Given the description of an element on the screen output the (x, y) to click on. 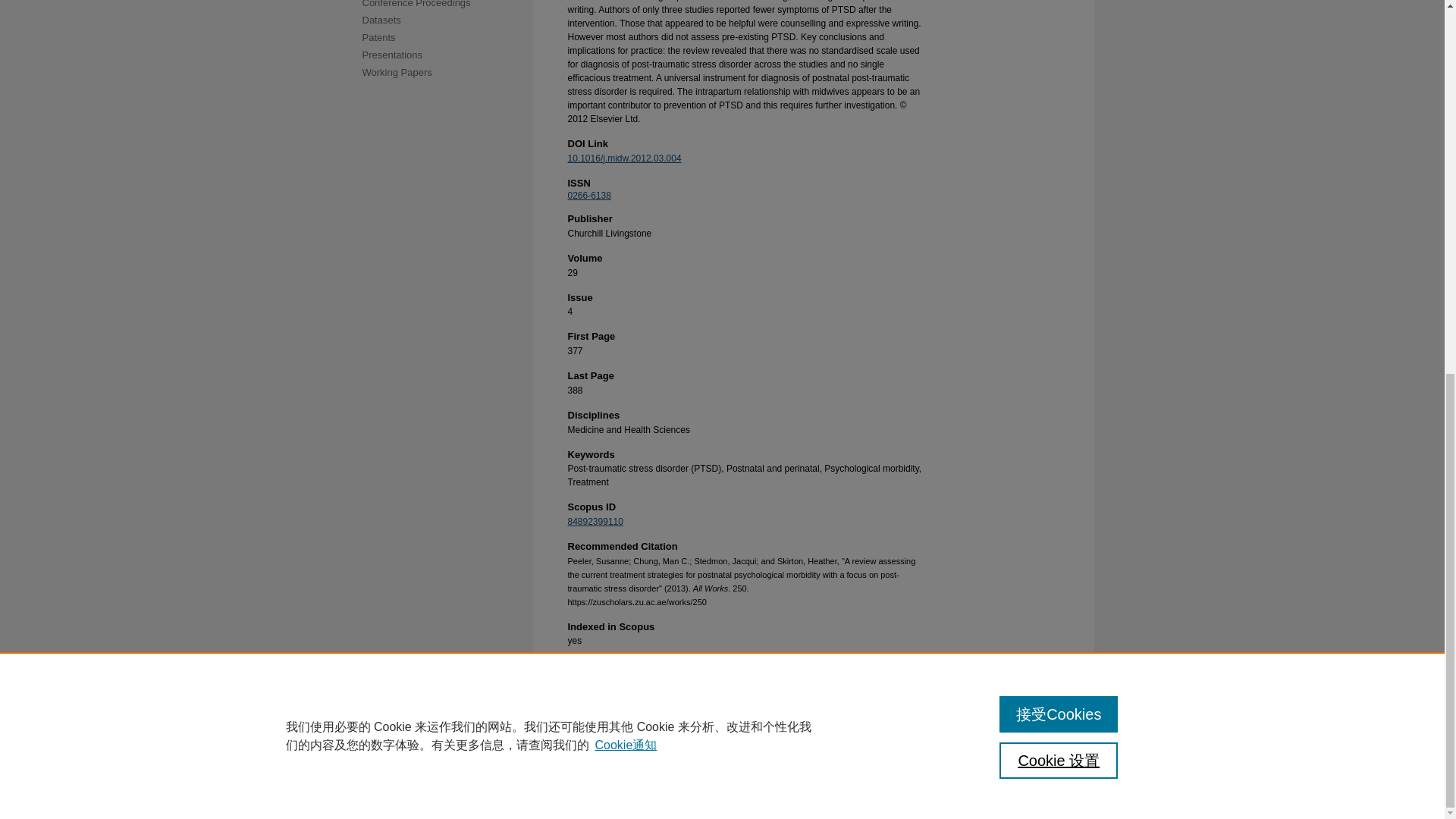
0266-6138 (588, 195)
84892399110 (595, 521)
